Given the description of an element on the screen output the (x, y) to click on. 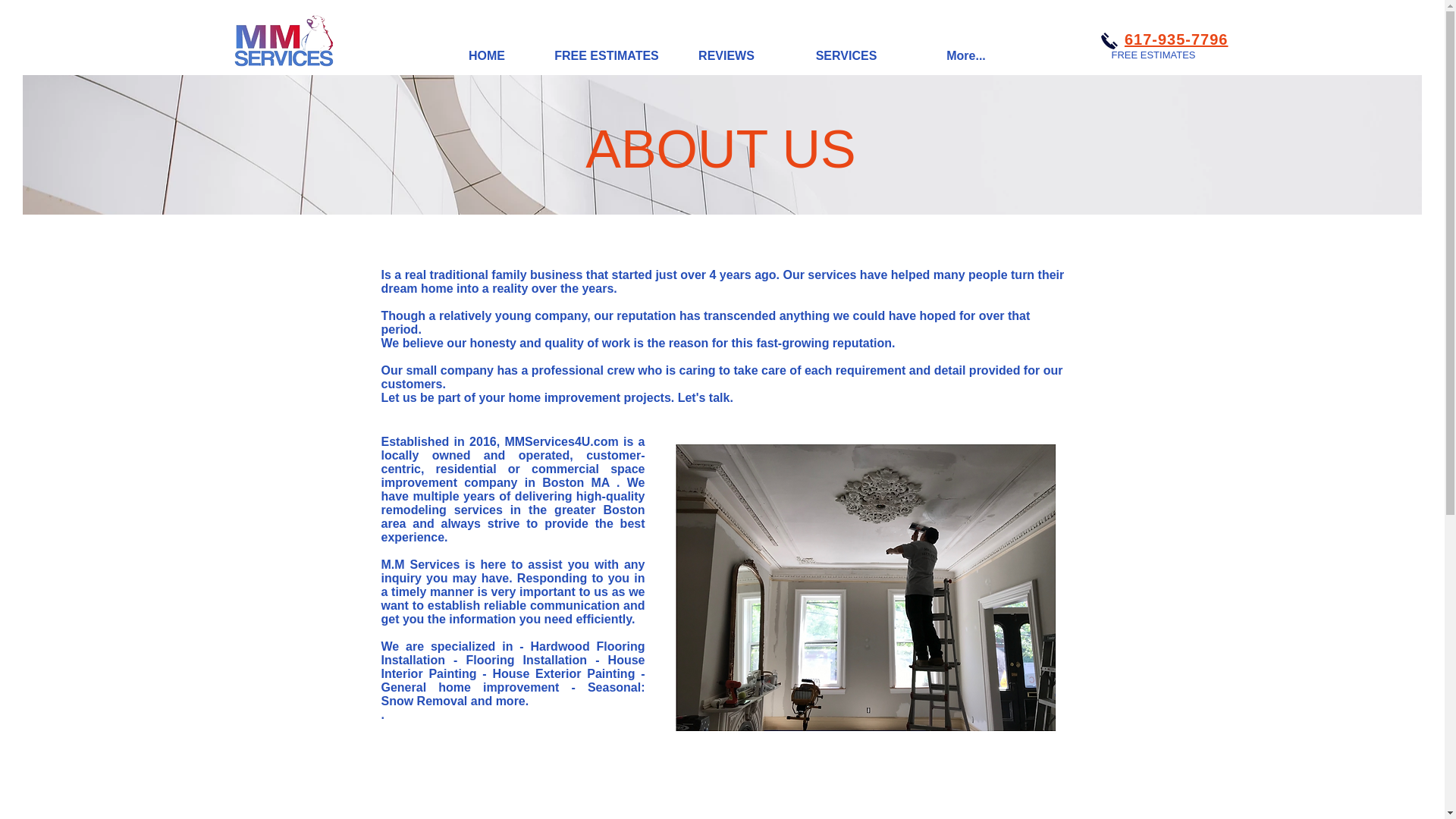
HOME (486, 55)
SERVICES (845, 55)
617-935-7796 (1176, 39)
FREE ESTIMATES (606, 55)
REVIEWS (726, 55)
